Given the description of an element on the screen output the (x, y) to click on. 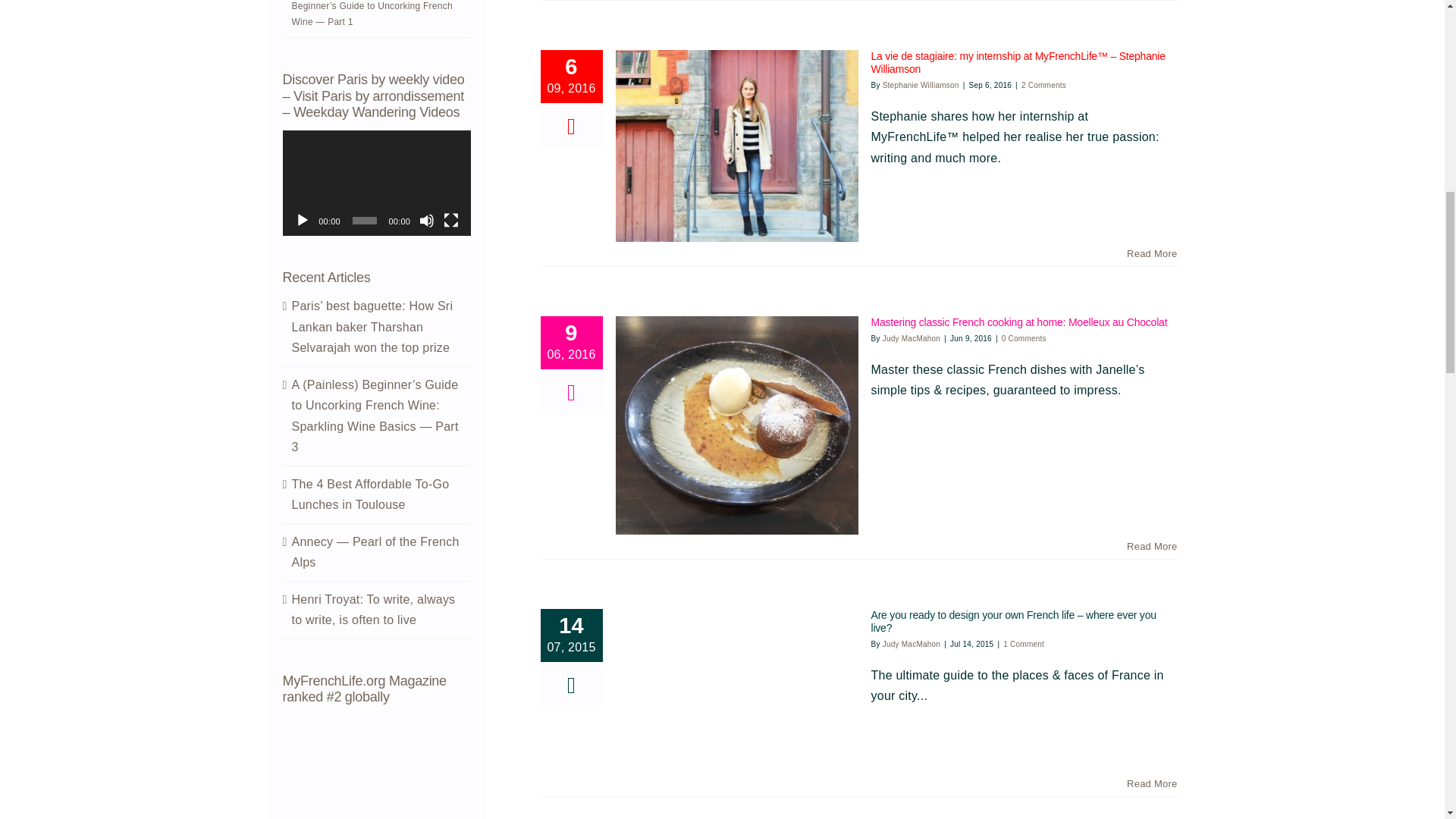
Posts by Stephanie Williamson (920, 85)
Posts by Judy MacMahon (911, 338)
Posts by Judy MacMahon (911, 643)
